Given the description of an element on the screen output the (x, y) to click on. 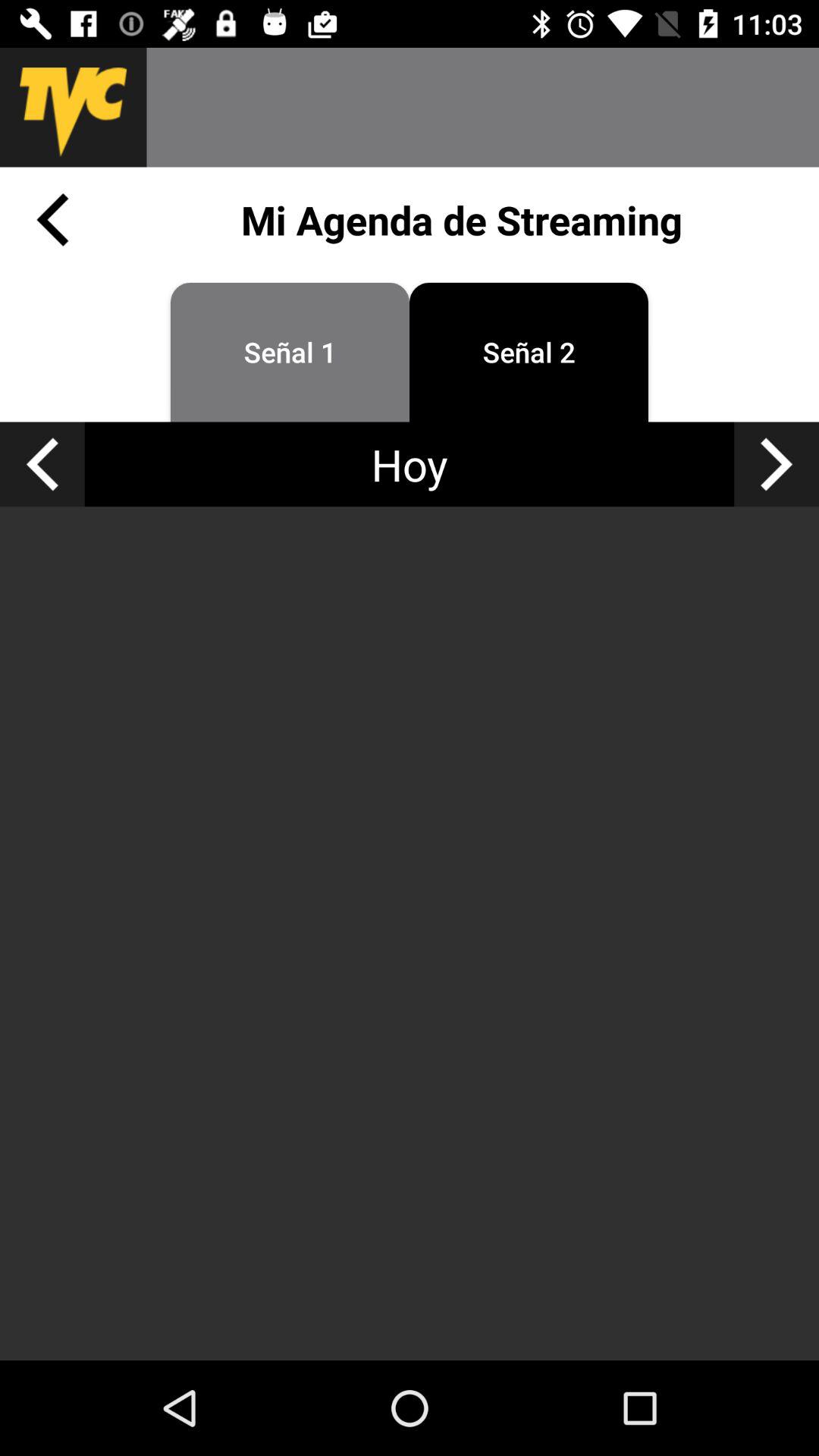
press the icon at the center (409, 933)
